Given the description of an element on the screen output the (x, y) to click on. 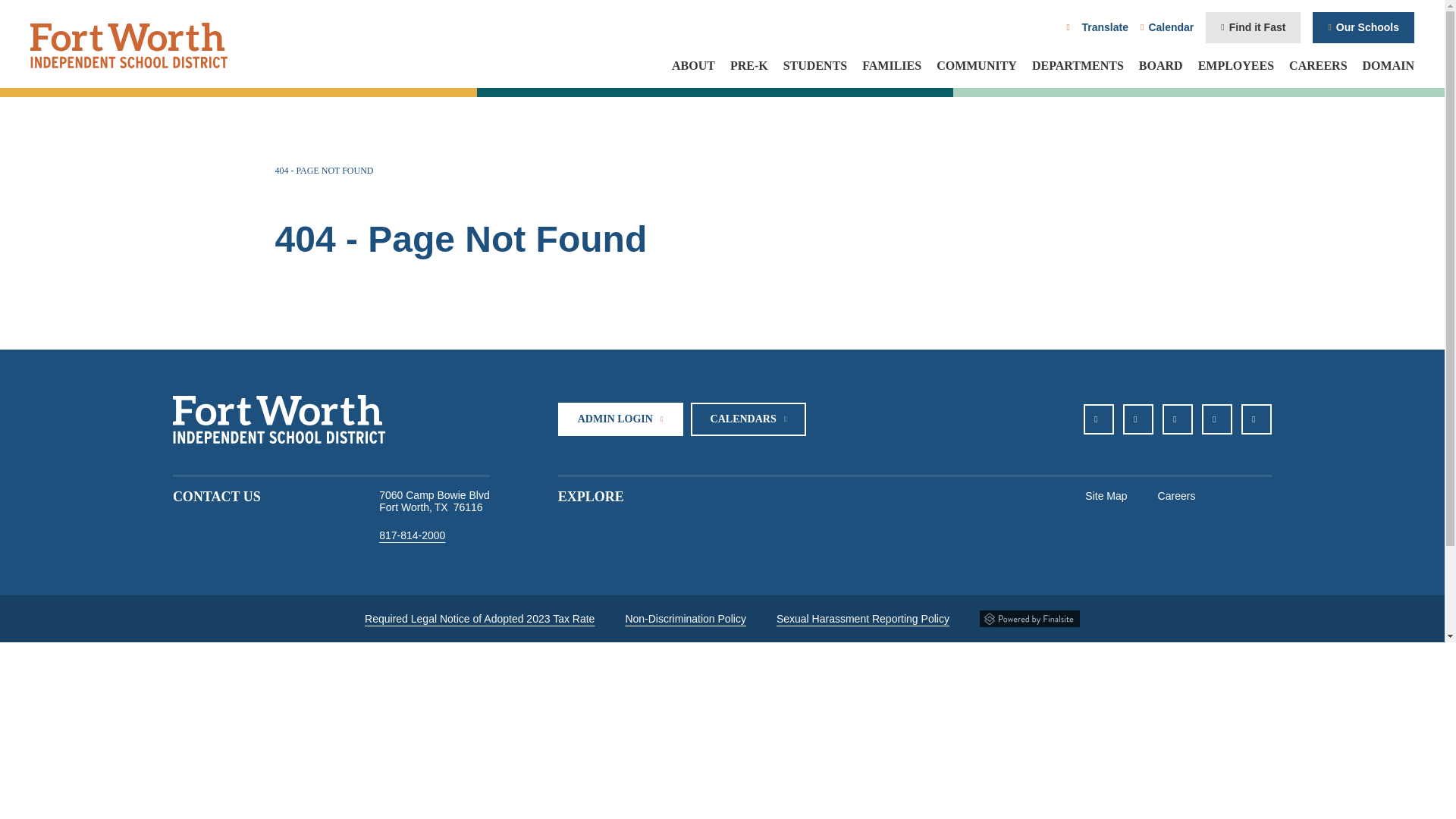
Powered by Finalsite opens in a new window (1029, 618)
Admin Login (619, 418)
